Given the description of an element on the screen output the (x, y) to click on. 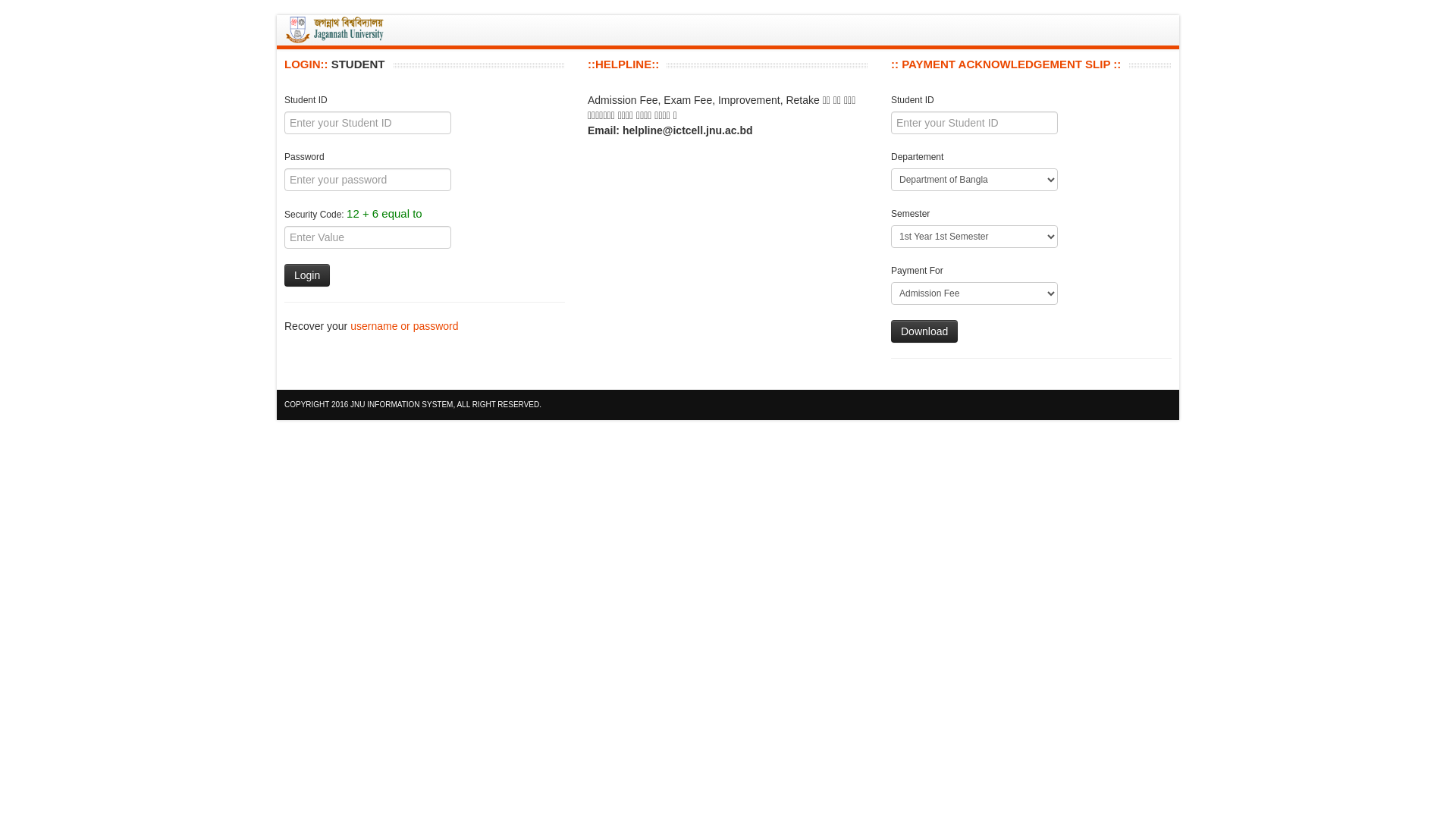
username or password Element type: text (404, 326)
Login Element type: text (306, 274)
Download Element type: text (924, 331)
